Given the description of an element on the screen output the (x, y) to click on. 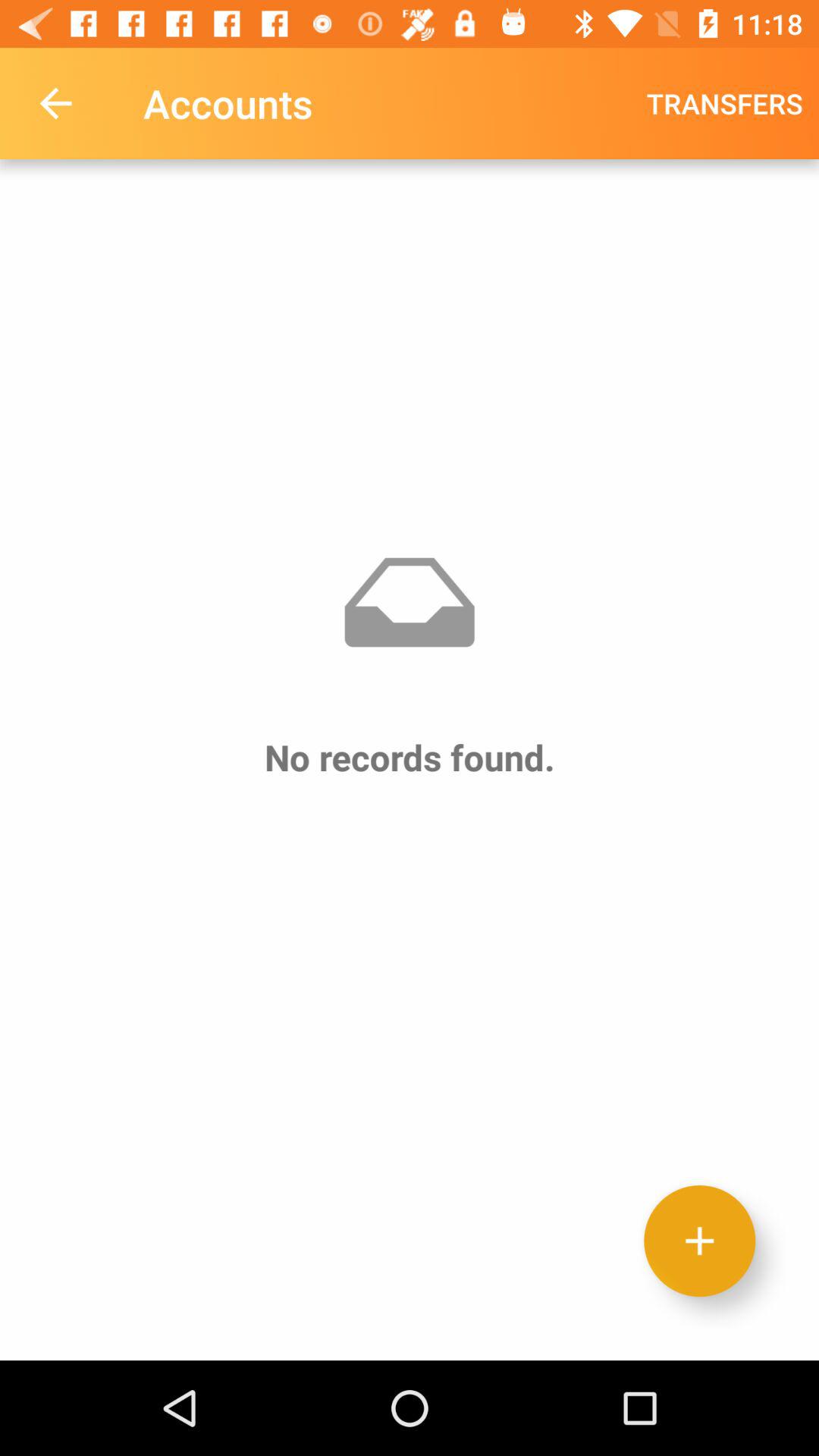
press item above no records found. (55, 103)
